Given the description of an element on the screen output the (x, y) to click on. 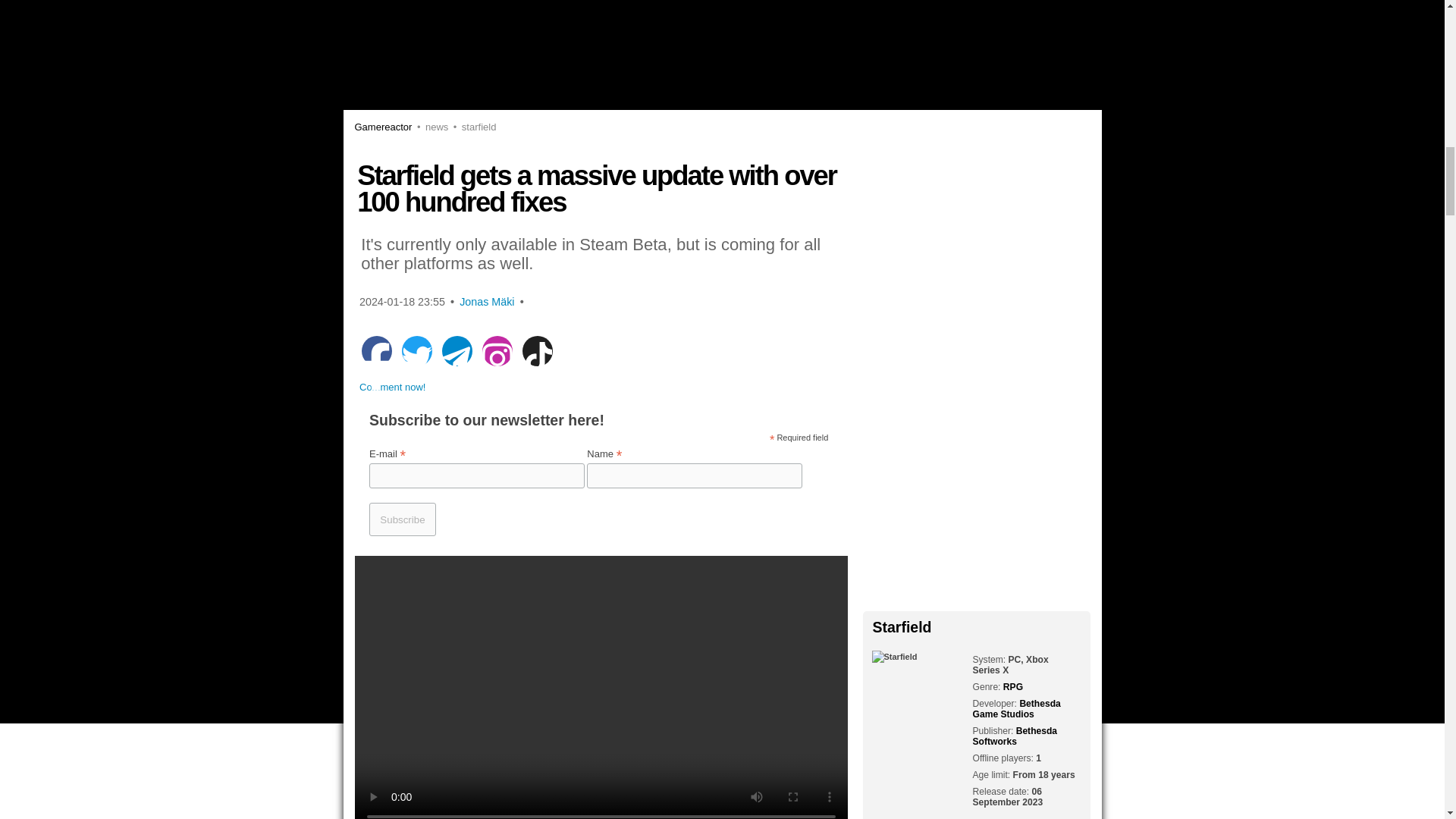
Gamereactor news (430, 126)
Subscribe (402, 519)
Starfield (472, 126)
Gamereactor (383, 126)
